Given the description of an element on the screen output the (x, y) to click on. 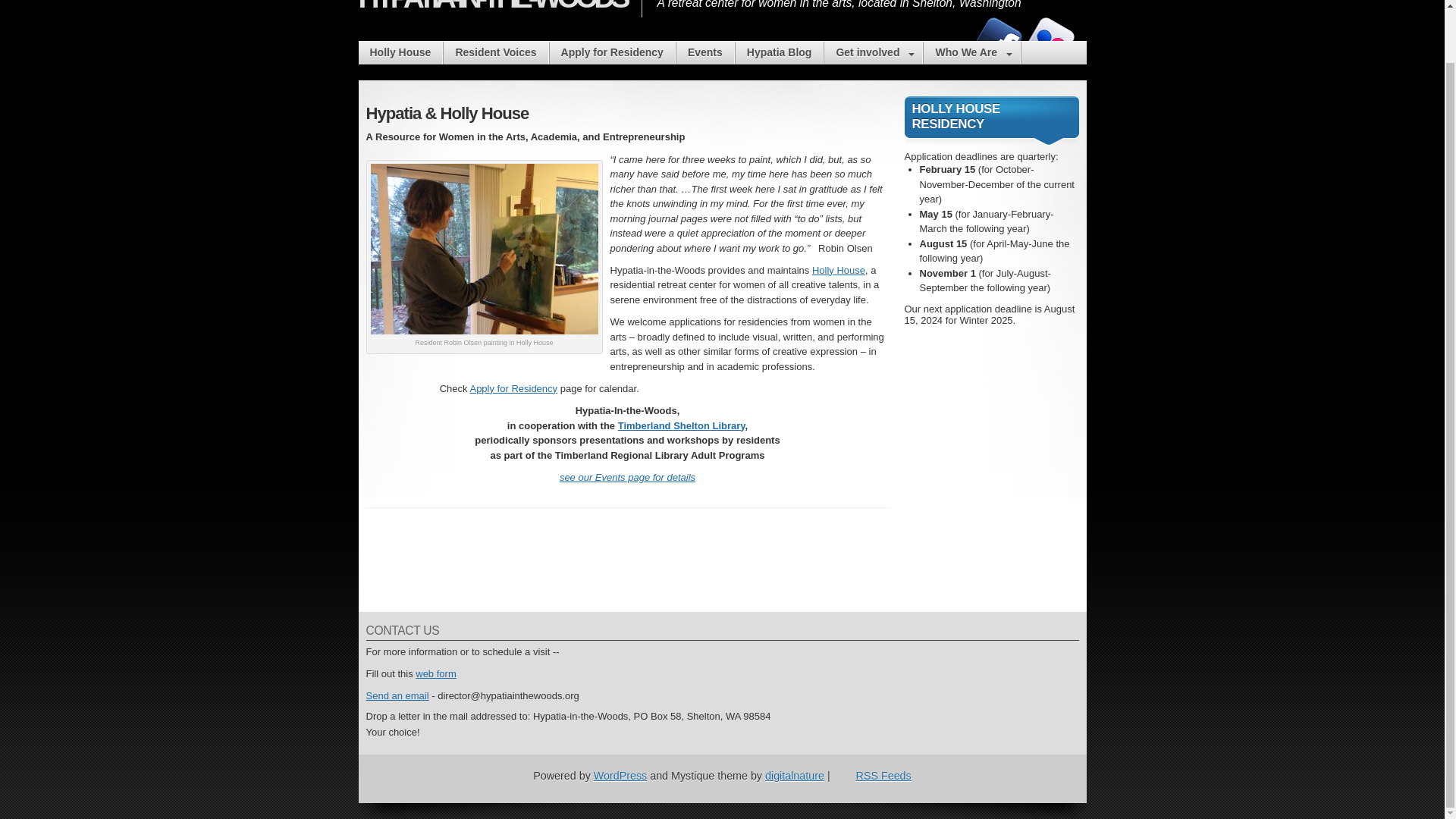
Apply for Residency (512, 388)
RSS Feeds (871, 775)
web form (434, 673)
digitalnature (971, 52)
Hypatia Blog (794, 775)
undefined (779, 52)
Holly House (1050, 40)
Holly House (400, 52)
Resident Voices (838, 270)
see our Events page for details (495, 52)
Send an email (627, 477)
HYPATIA-IN-THE-WOODS (396, 695)
Timberland Shelton Library (492, 7)
Apply for Residency (681, 424)
